Given the description of an element on the screen output the (x, y) to click on. 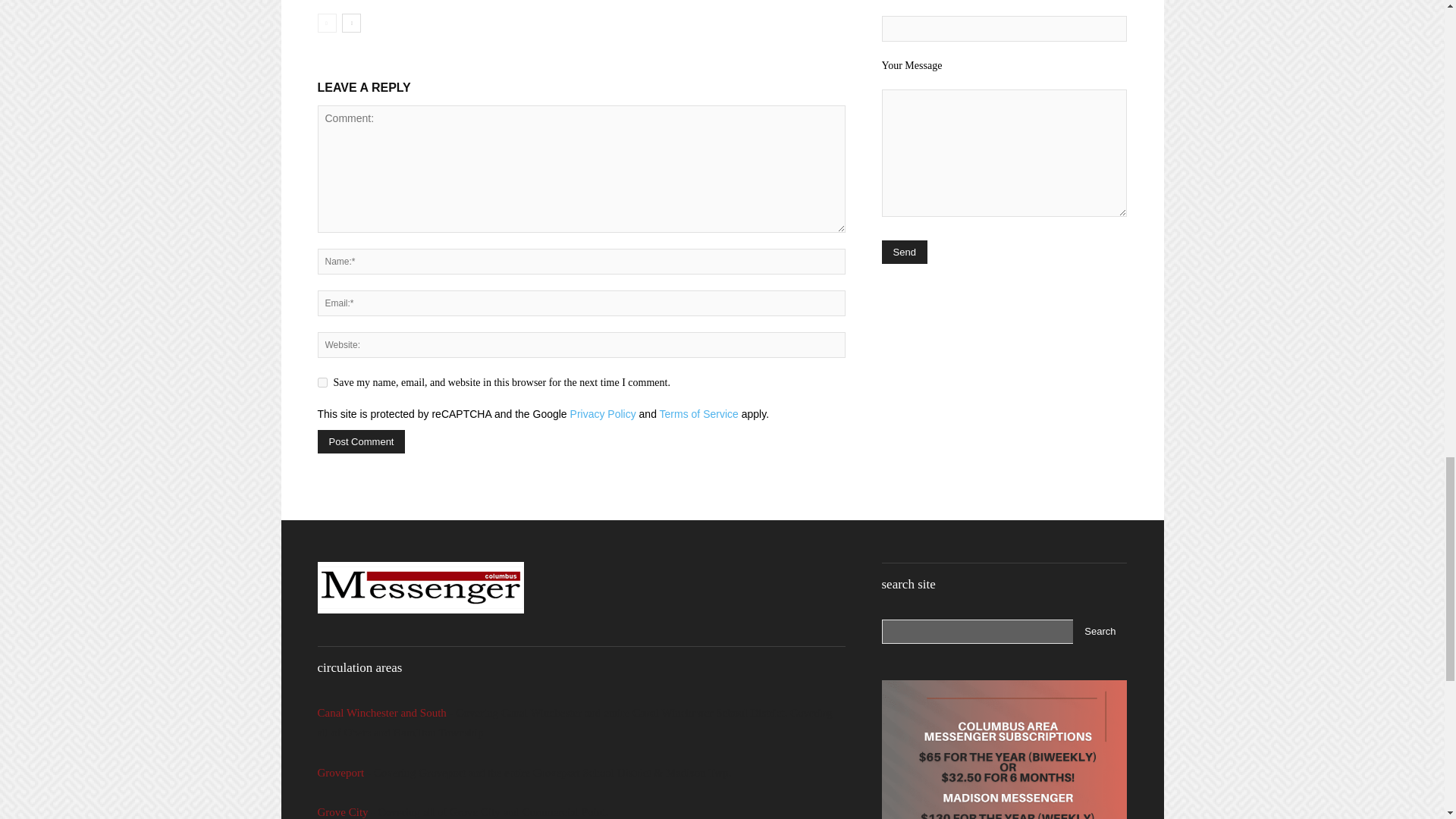
yes (321, 382)
Post Comment (360, 441)
Search (1099, 631)
Send (903, 251)
